Given the description of an element on the screen output the (x, y) to click on. 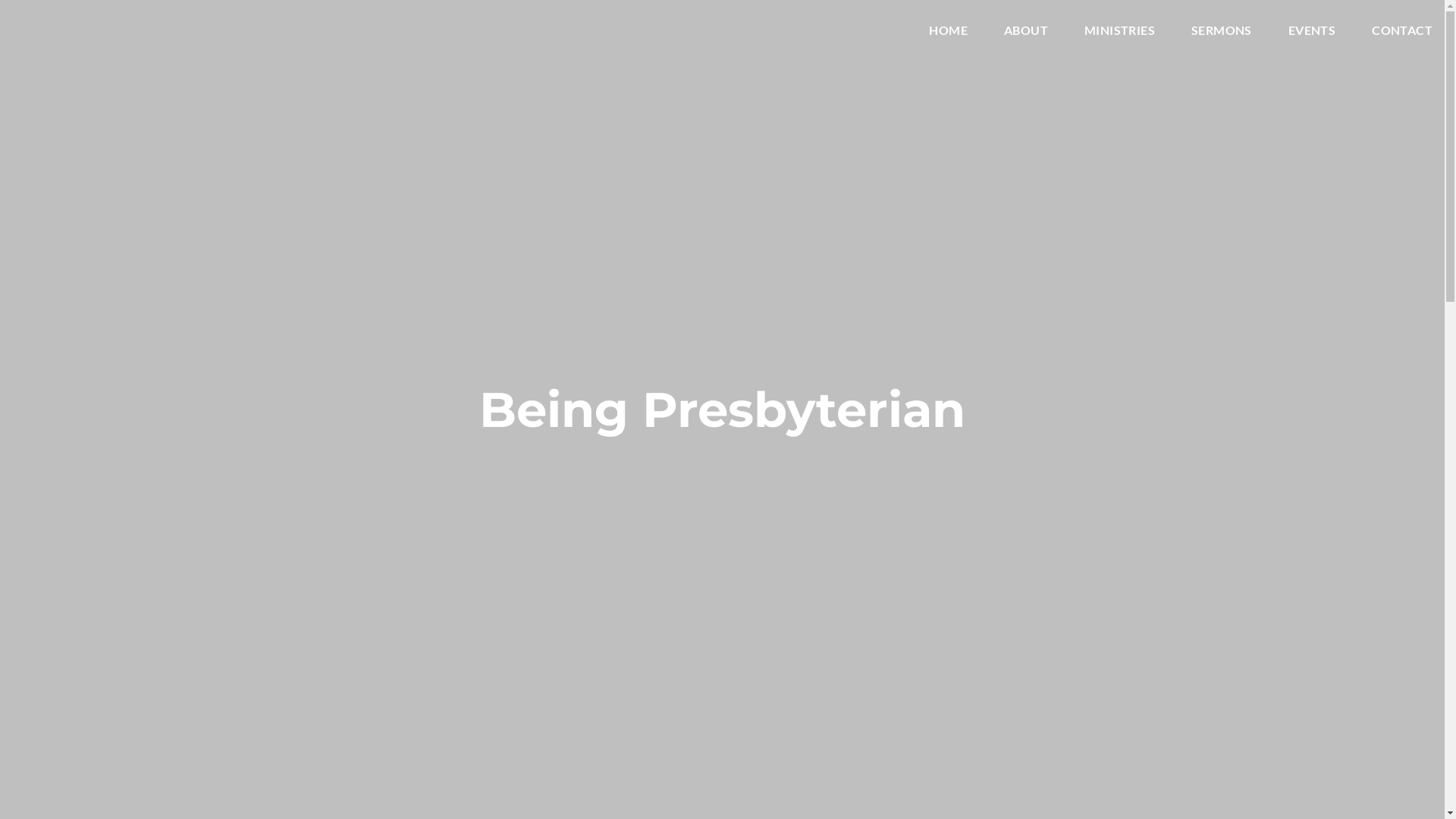
MINISTRIES Element type: text (1119, 33)
ABOUT Element type: text (1026, 33)
SERMONS Element type: text (1221, 33)
EVENTS Element type: text (1311, 33)
HOME Element type: text (947, 33)
CONTACT Element type: text (1401, 33)
